Given the description of an element on the screen output the (x, y) to click on. 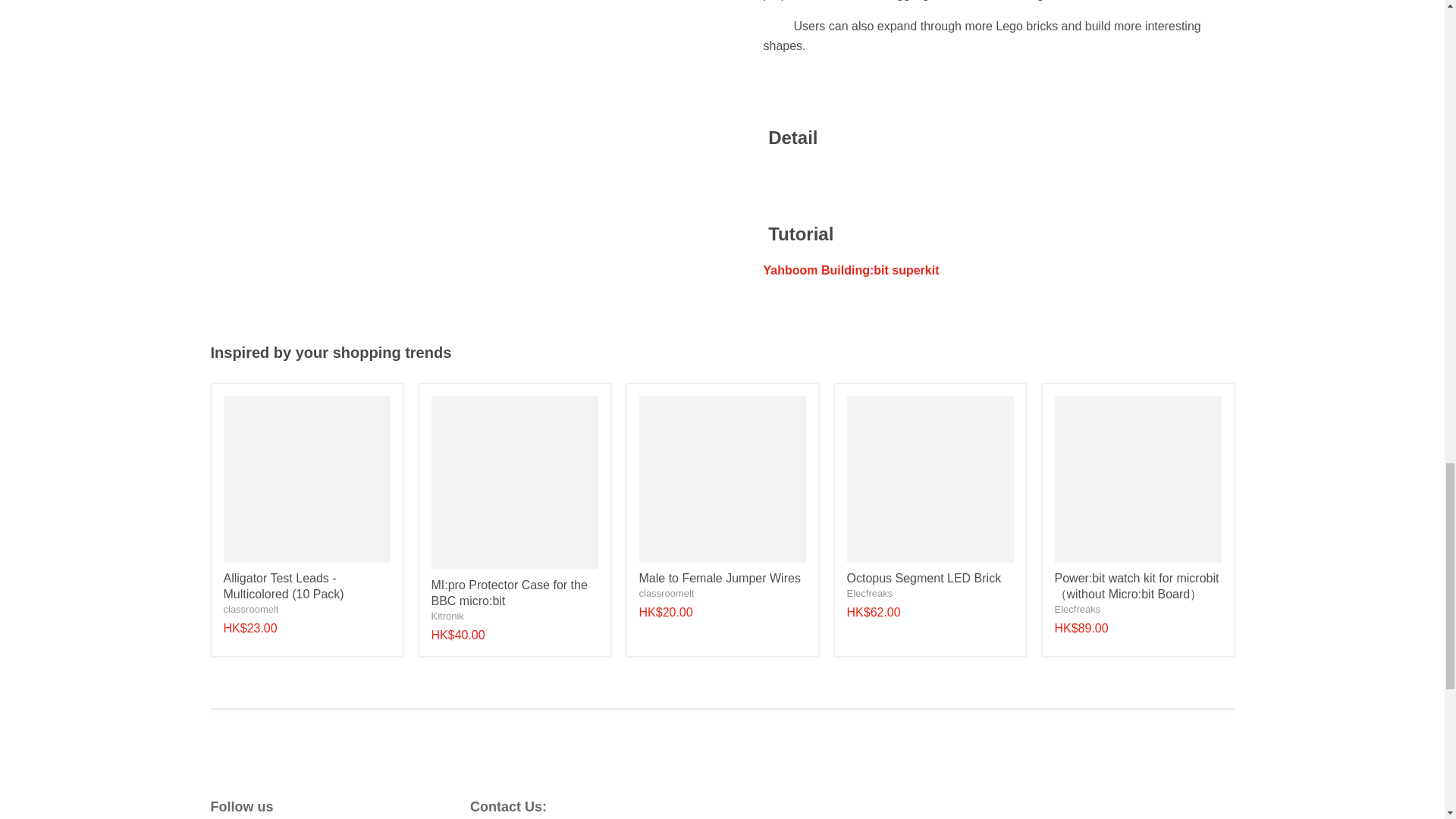
classroomelt (250, 609)
Elecfreaks (868, 593)
Kitronik (446, 615)
classroomelt (666, 593)
Elecfreaks (1077, 609)
